Given the description of an element on the screen output the (x, y) to click on. 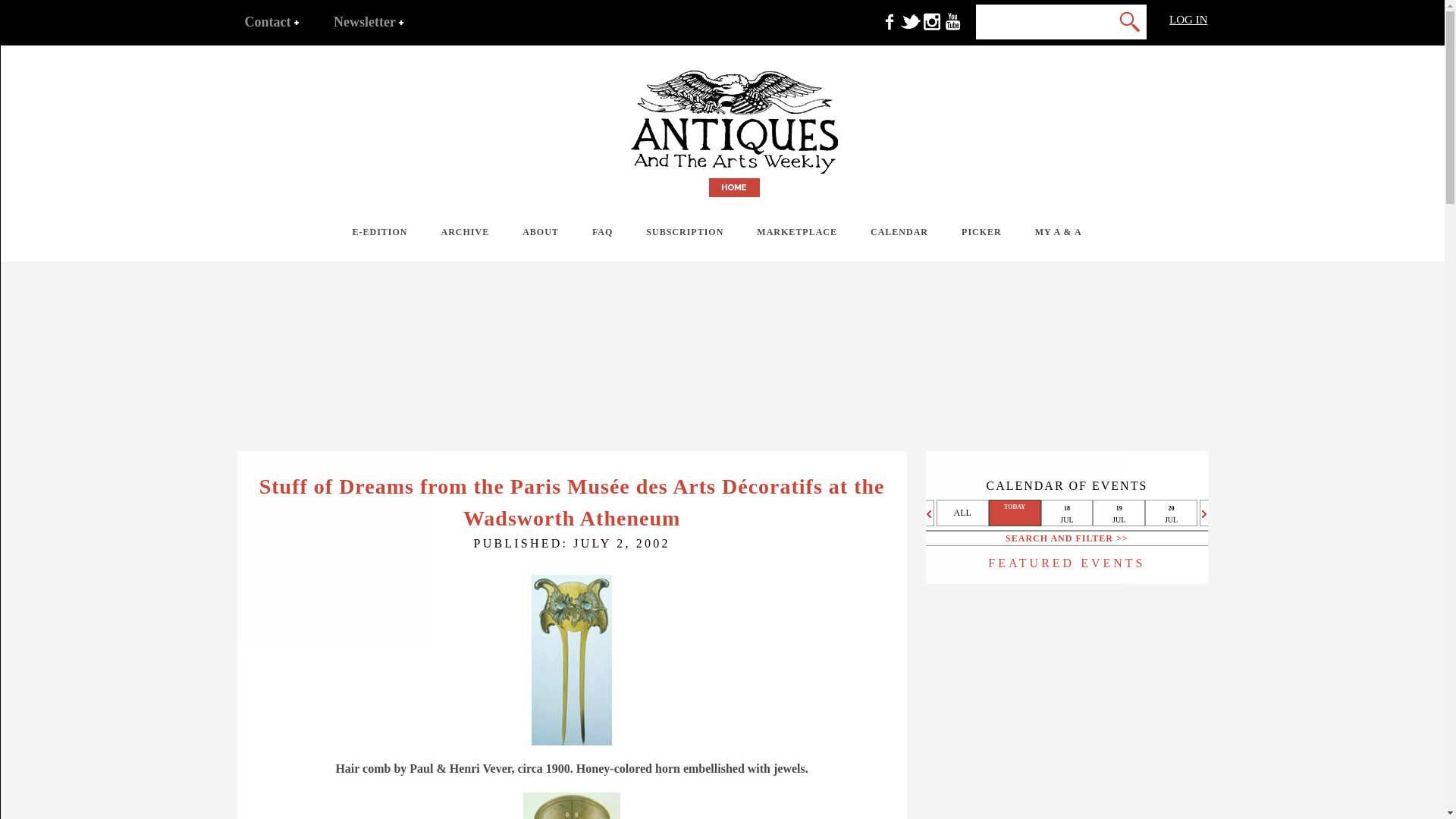
Twitter (910, 28)
Youtube (952, 28)
Facebook (889, 28)
Search... (1021, 21)
Instagram (931, 28)
